Given the description of an element on the screen output the (x, y) to click on. 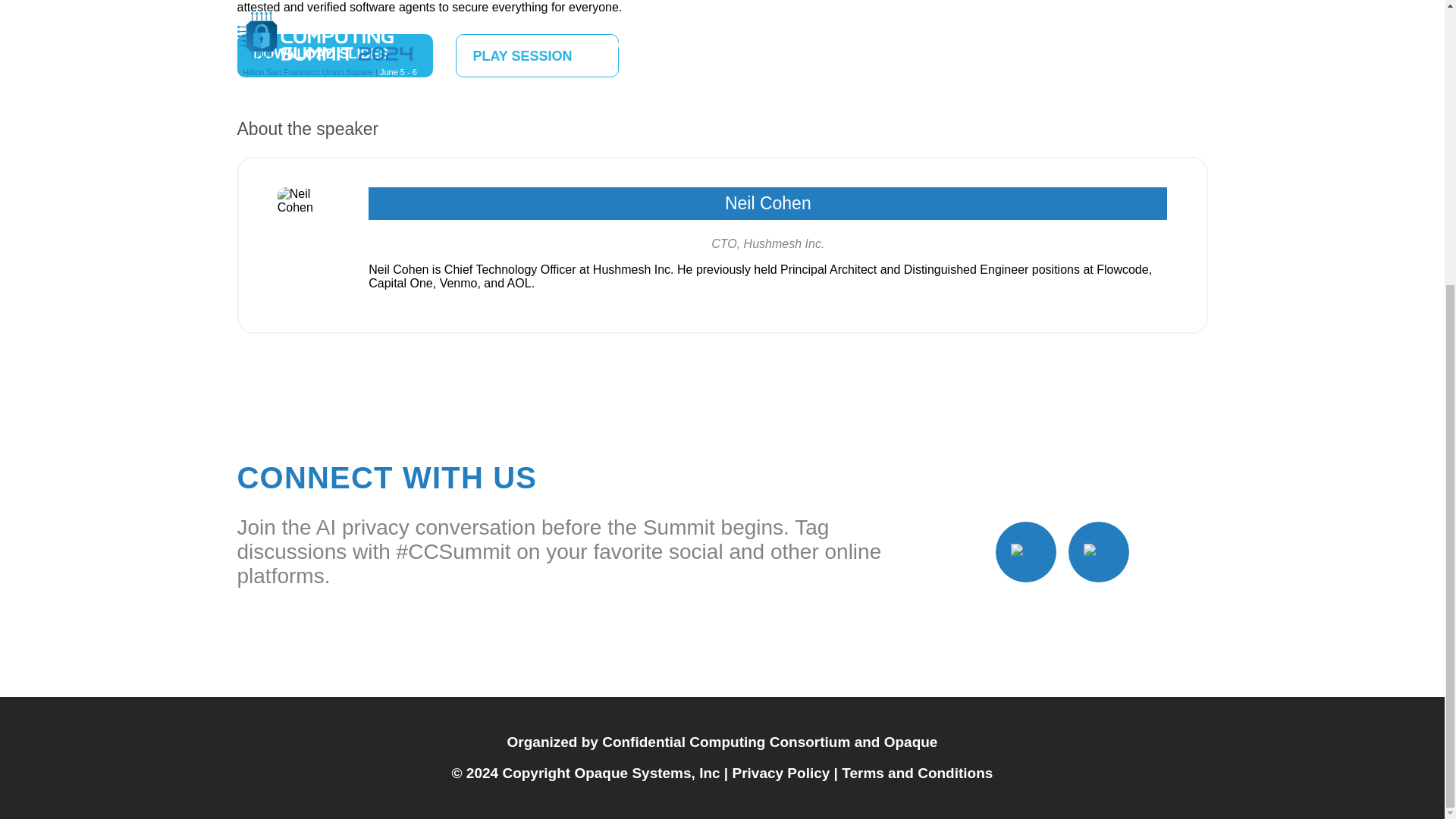
Privacy Policy (780, 772)
Terms and Conditions (916, 772)
DOWNLOAD SLIDES (333, 55)
